Given the description of an element on the screen output the (x, y) to click on. 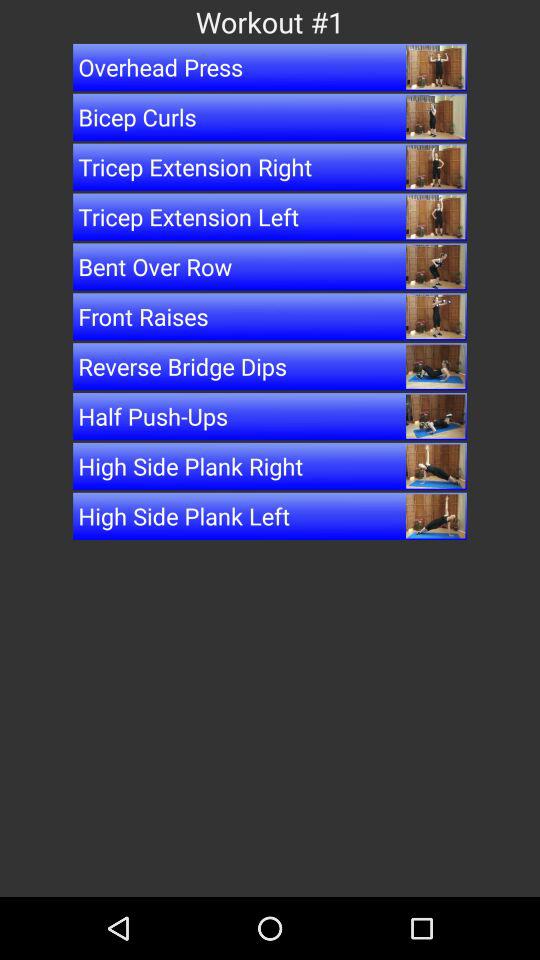
choose the button below tricep extension left (269, 266)
